Given the description of an element on the screen output the (x, y) to click on. 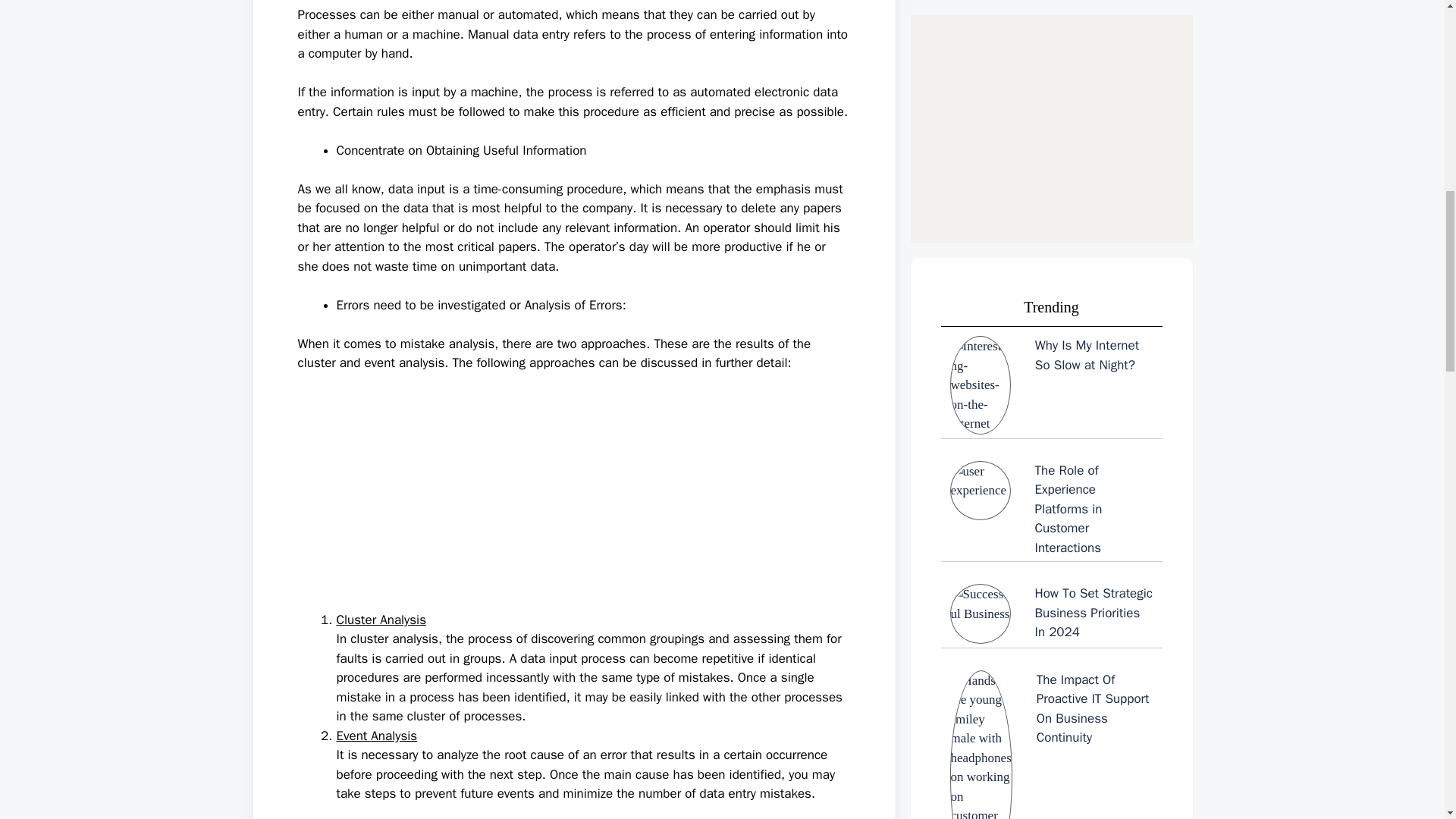
How to Watch Spanish TV in the US (1051, 806)
Scroll back to top (1406, 720)
The Impact Of Proactive IT Support On Business Continuity (1051, 197)
How To Set Strategic Business Priorities In 2024 (1051, 34)
